Given the description of an element on the screen output the (x, y) to click on. 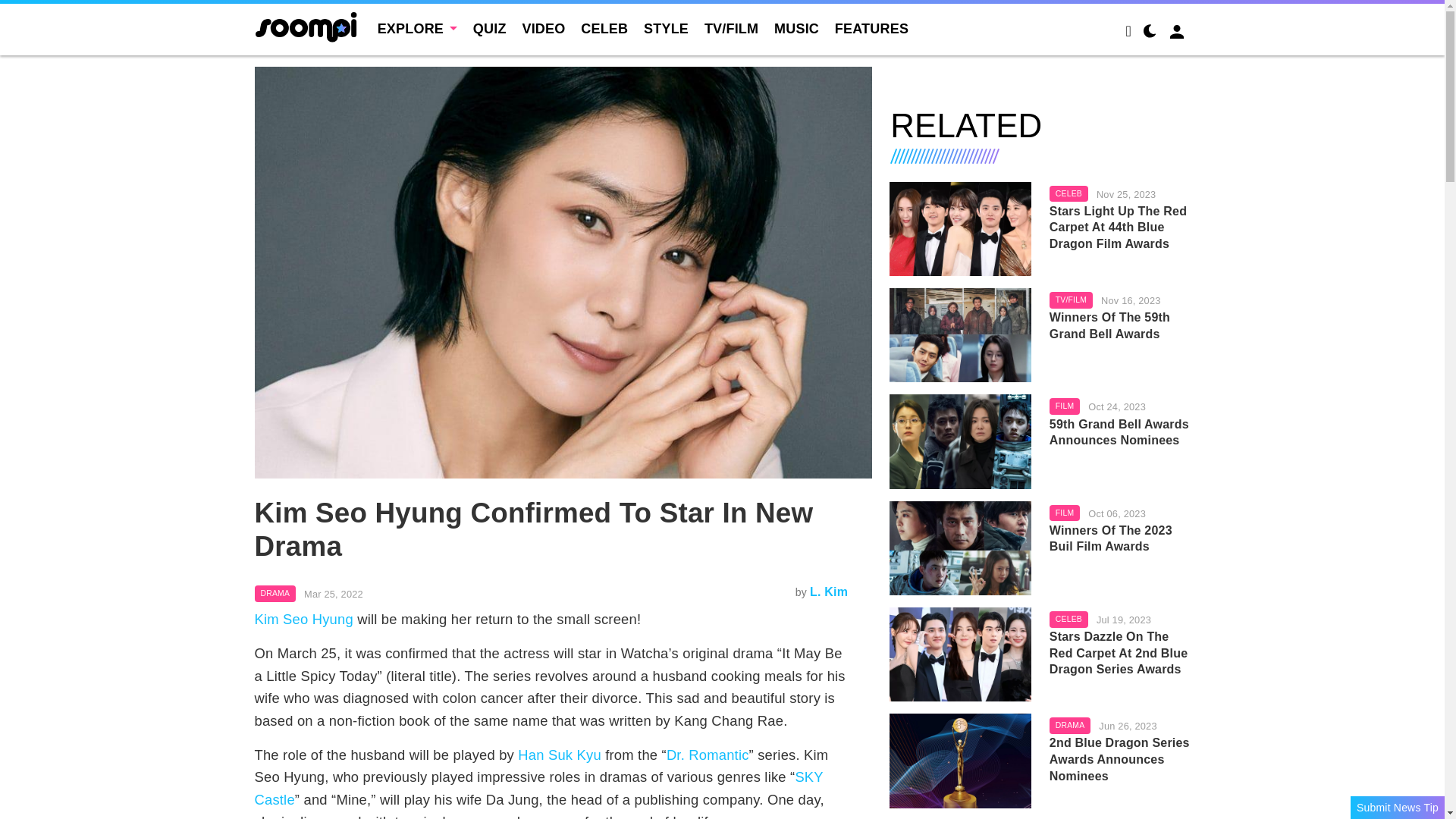
L. Kim (828, 591)
FEATURES (871, 28)
Articles by L. Kim (828, 591)
Kim Seo Hyung (303, 618)
CELEB (603, 28)
Night Mode Toggle (1149, 33)
Han Suk Kyu (559, 754)
VIDEO (542, 28)
STYLE (665, 28)
Winners Of The 59th Grand Bell Awards (1120, 325)
EXPLORE (417, 28)
Celeb (1068, 193)
DRAMA (275, 593)
